Given the description of an element on the screen output the (x, y) to click on. 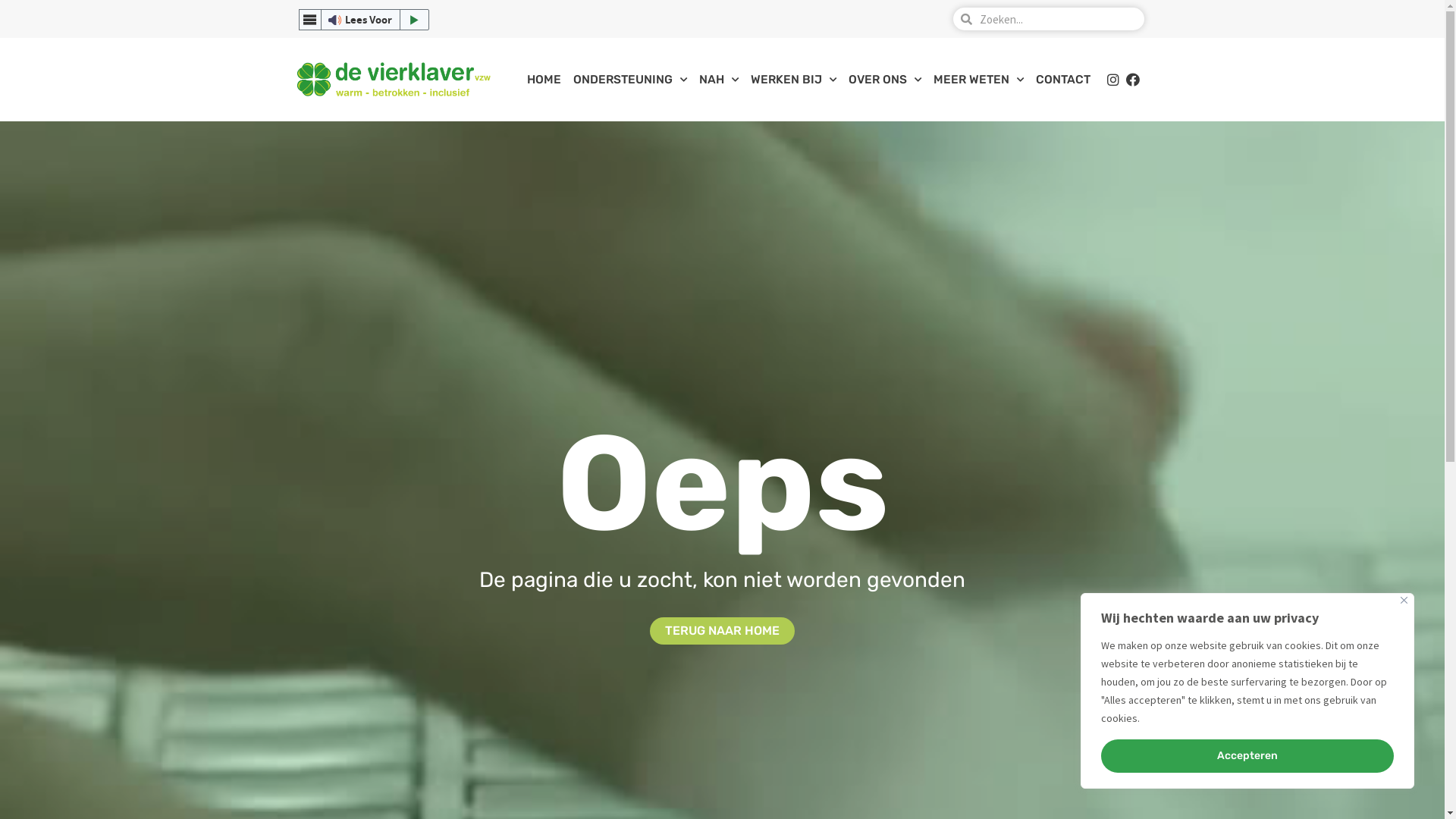
Accepteren Element type: text (1247, 755)
CONTACT Element type: text (1062, 79)
Lees Voor Element type: text (363, 19)
TERUG NAAR HOME Element type: text (721, 630)
HOME Element type: text (543, 79)
webReader menu Element type: hover (309, 19)
MEER WETEN Element type: text (978, 79)
OVER ONS Element type: text (884, 79)
NAH Element type: text (718, 79)
WERKEN BIJ Element type: text (793, 79)
ONDERSTEUNING Element type: text (630, 79)
